Given the description of an element on the screen output the (x, y) to click on. 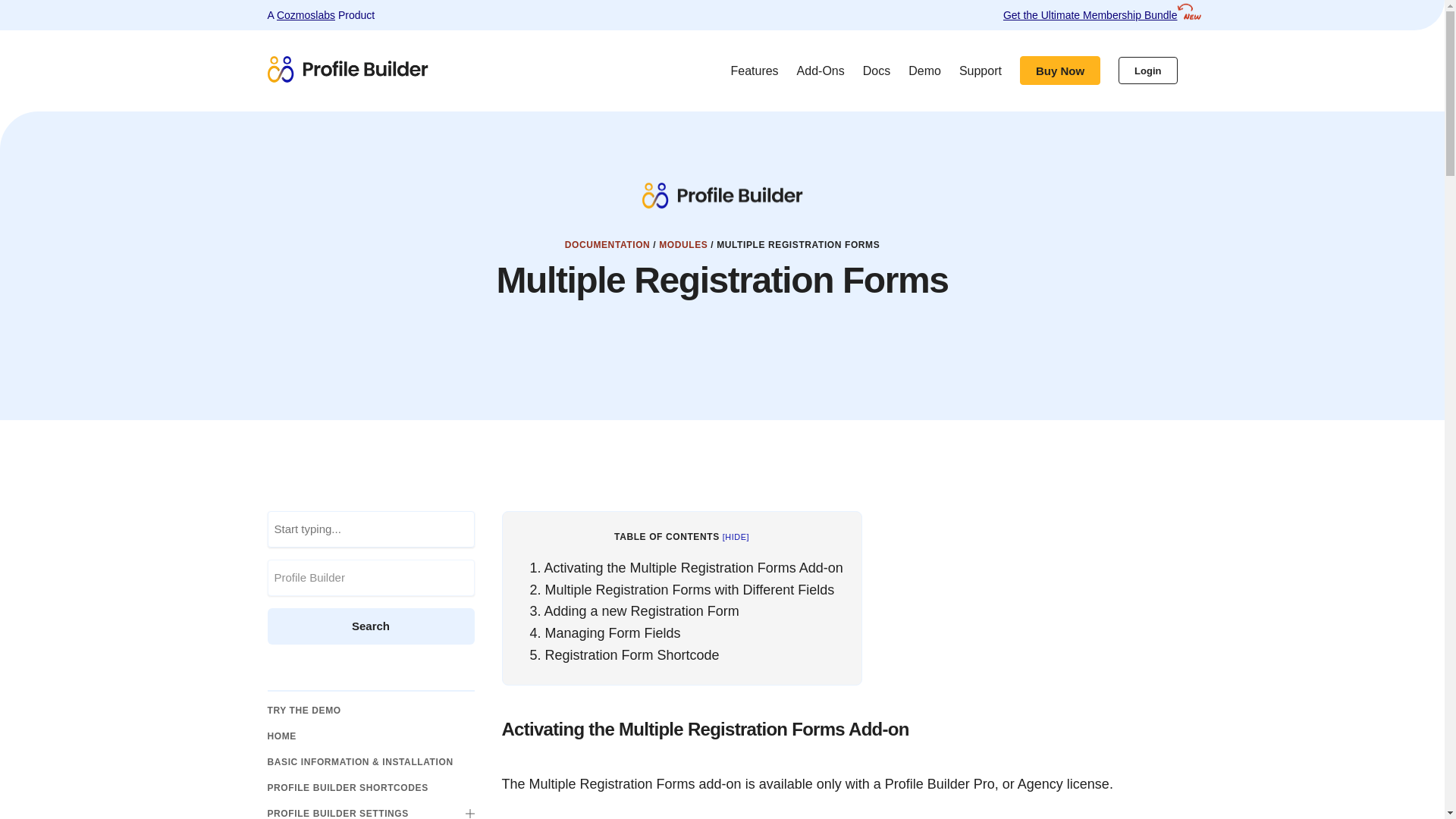
Support (980, 70)
Docs (876, 70)
Demo (924, 70)
MODULES (683, 244)
Product page (427, 70)
TOGGLE (469, 813)
Search (370, 626)
Get the Ultimate Membership Bundle (1090, 15)
Features (753, 70)
Cozmoslabs (305, 15)
